Given the description of an element on the screen output the (x, y) to click on. 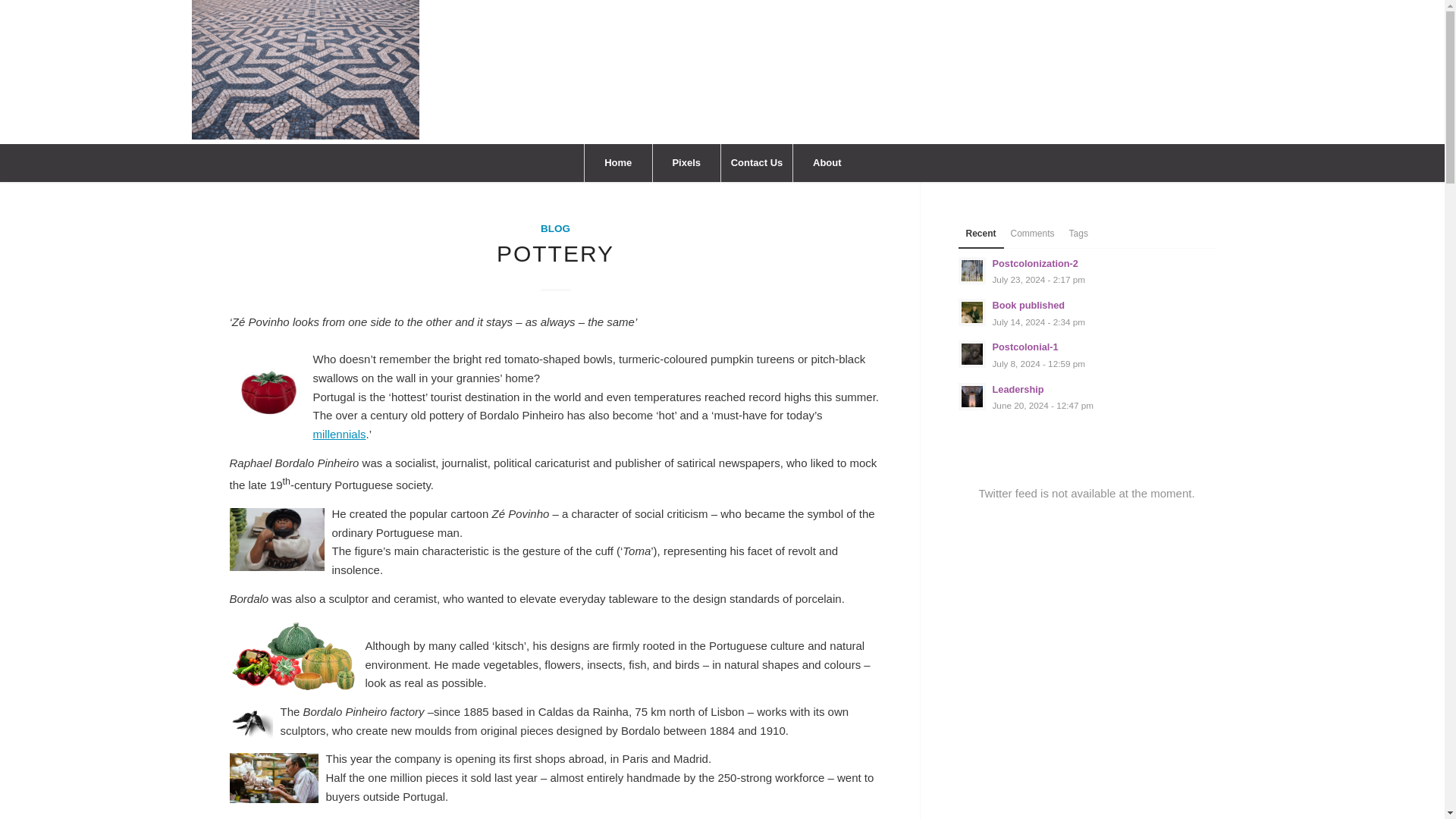
BLOG (555, 228)
Contact Us (756, 162)
Home (617, 162)
Leadership (1086, 397)
About (1086, 397)
Postcolonial-1 (1086, 270)
Pixels (826, 162)
Permanent Link: Pottery (1086, 354)
millennials (686, 162)
Book published (555, 253)
museum (1086, 354)
